Given the description of an element on the screen output the (x, y) to click on. 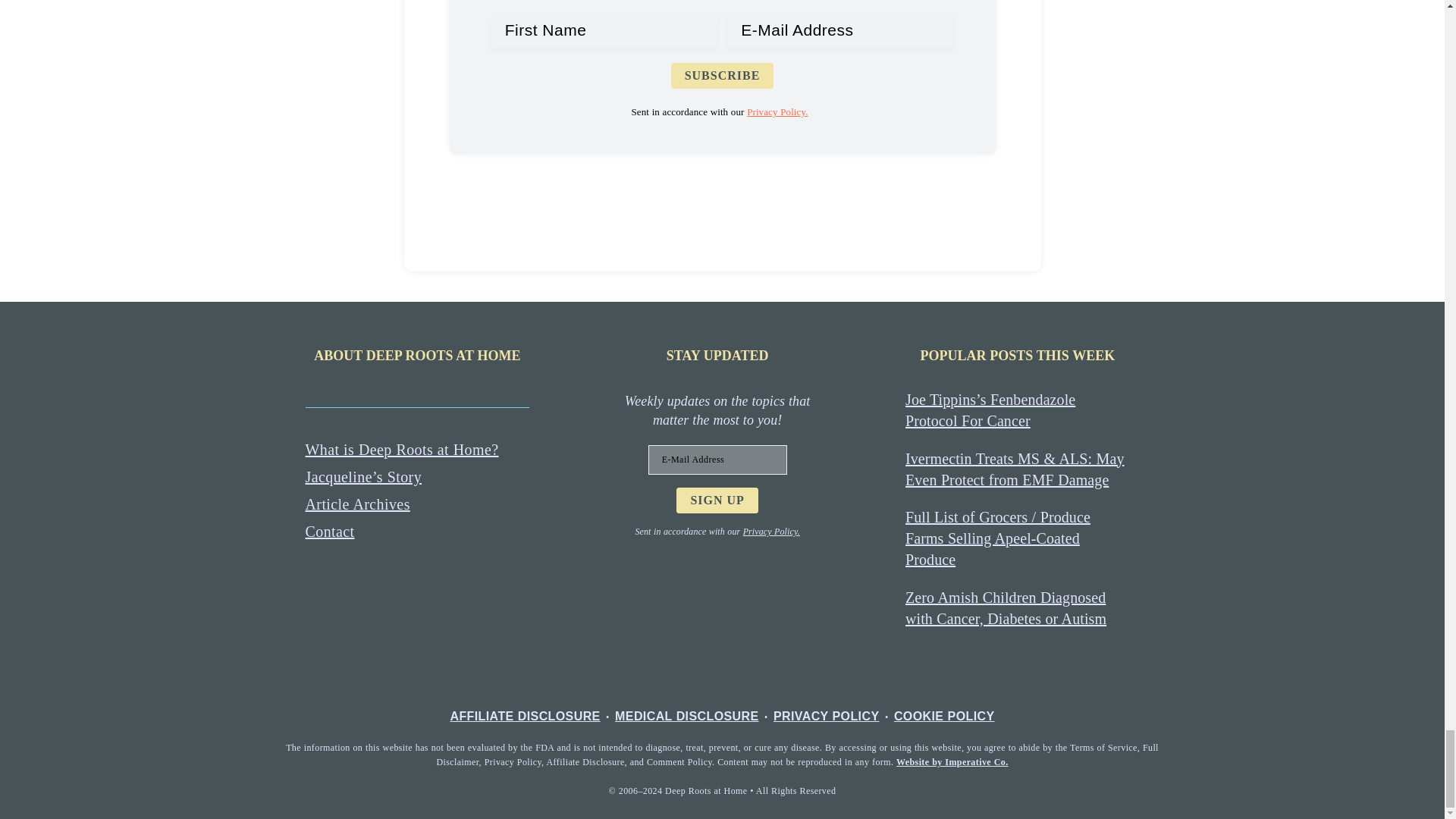
SUBSCRIBE (722, 75)
Sign Up (717, 500)
